Given the description of an element on the screen output the (x, y) to click on. 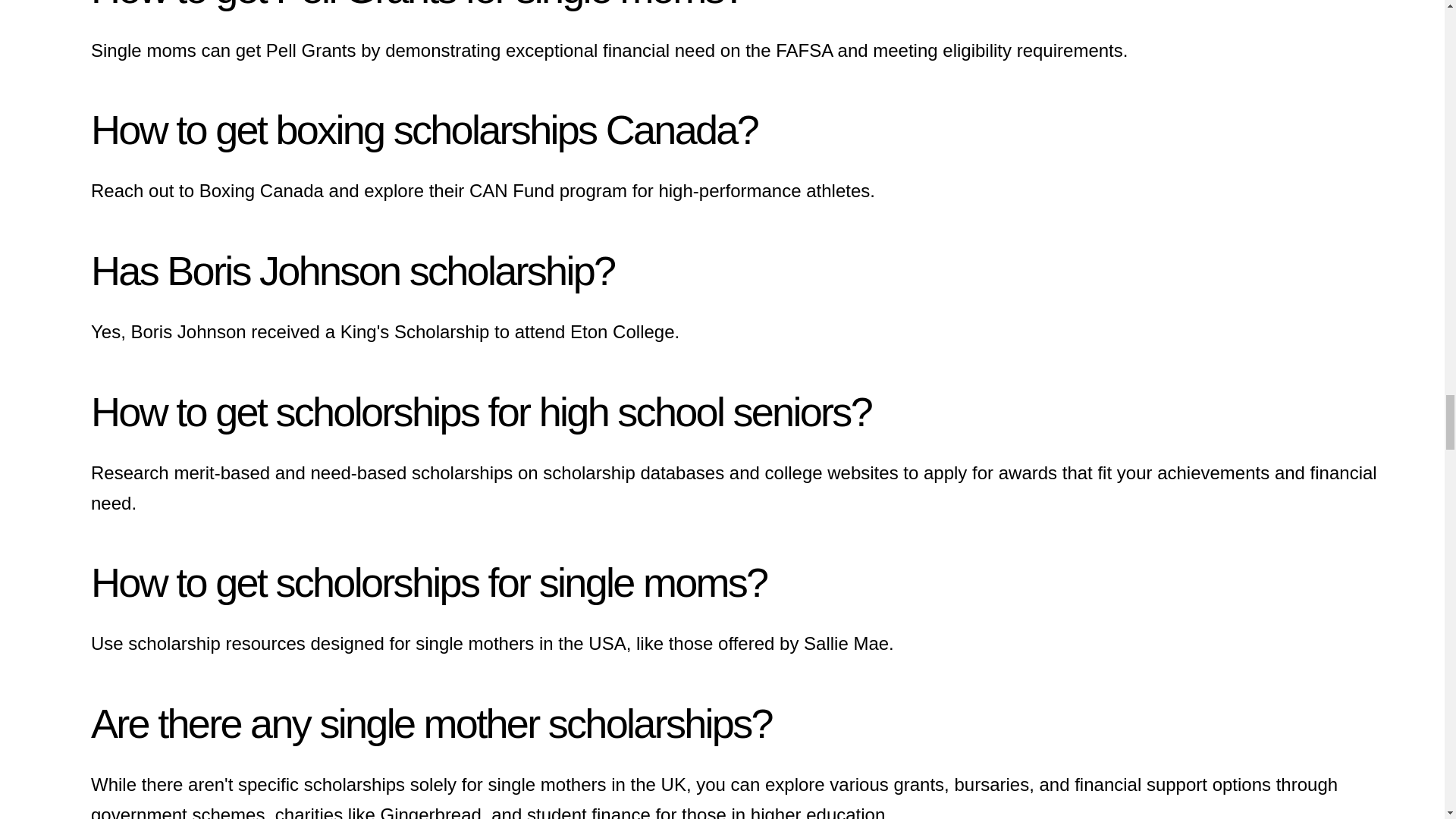
How to get scholorships for single moms? (428, 582)
How to get scholorships for high school seniors? (480, 411)
Are there any single mother scholarships? (430, 723)
How to get boxing scholarships Canada? (423, 129)
How to get Pell Grants for single moms? (417, 5)
Has Boris Johnson scholarship? (352, 270)
